Given the description of an element on the screen output the (x, y) to click on. 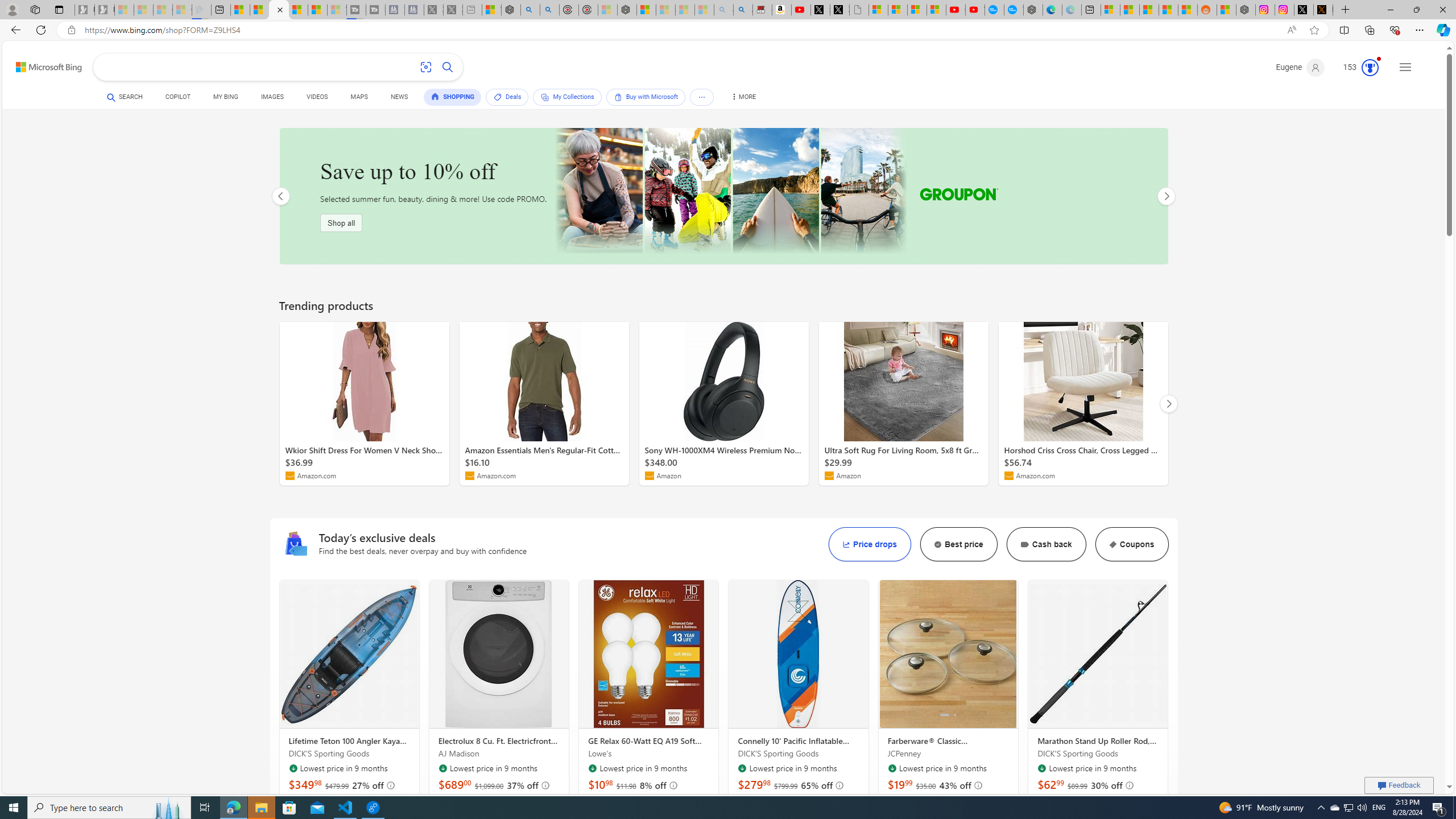
DealsMy CollectionsBuy with Microsoft (602, 98)
NEWS (398, 96)
Click to scroll right (1006, 654)
AutomationID: b_primary_seeMore (702, 96)
Tab actions menu (58, 9)
MY BING (224, 96)
Marathon Stand Up Roller Rod, Aluminum (1097, 653)
Dropdown Menu (742, 96)
poe - Search (529, 9)
